Given the description of an element on the screen output the (x, y) to click on. 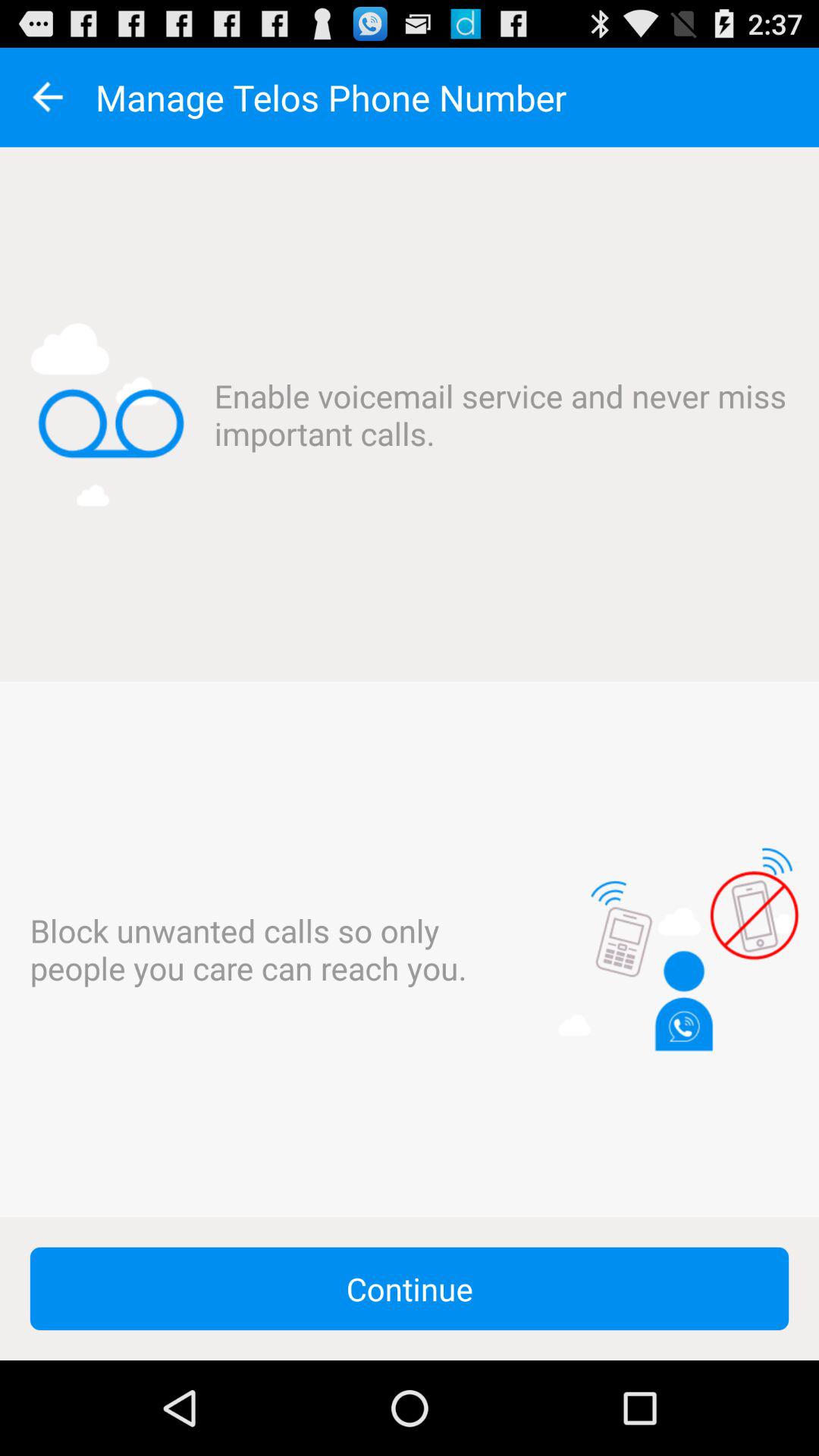
swipe until the continue (409, 1288)
